Given the description of an element on the screen output the (x, y) to click on. 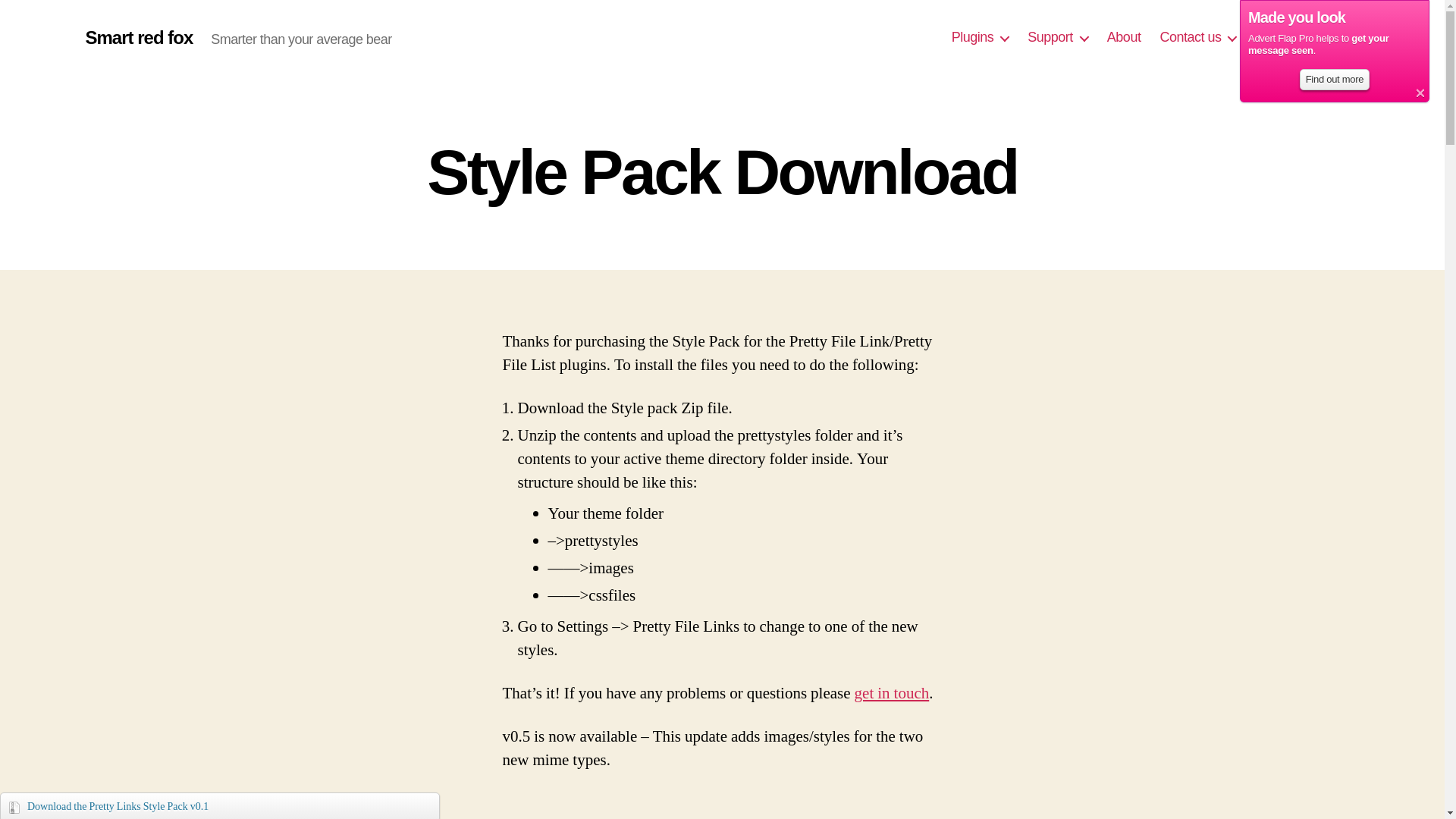
Smart red fox (138, 37)
Contact us (1197, 37)
About (1123, 37)
Search (1350, 37)
Close (1433, 9)
Support (1057, 37)
Find out more (1329, 23)
Plugins (980, 37)
Blog (1268, 37)
